Given the description of an element on the screen output the (x, y) to click on. 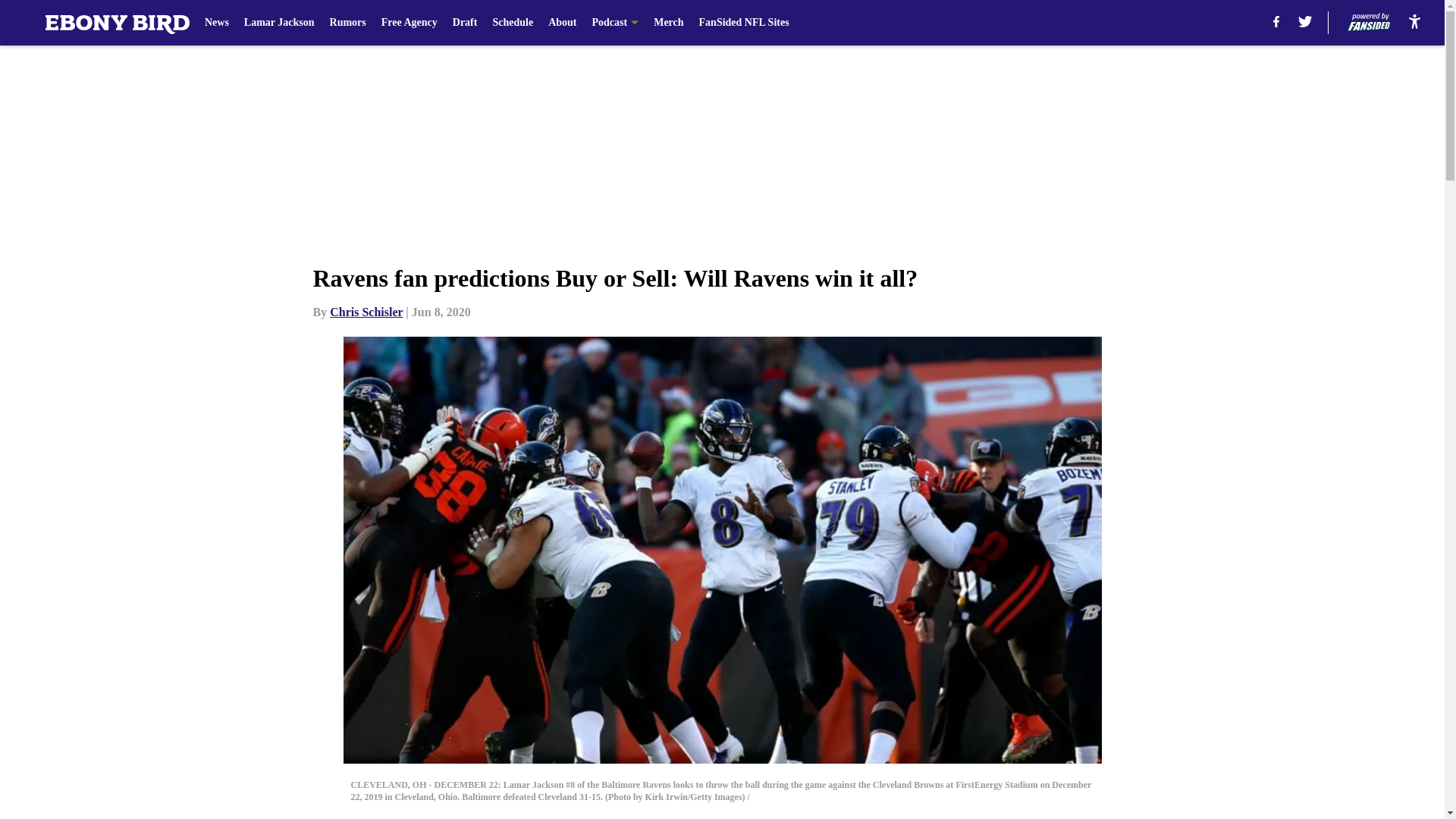
Lamar Jackson (279, 22)
Chris Schisler (366, 311)
About (562, 22)
Rumors (348, 22)
Draft (464, 22)
Free Agency (409, 22)
Merch (667, 22)
News (216, 22)
FanSided NFL Sites (743, 22)
Schedule (512, 22)
